Given the description of an element on the screen output the (x, y) to click on. 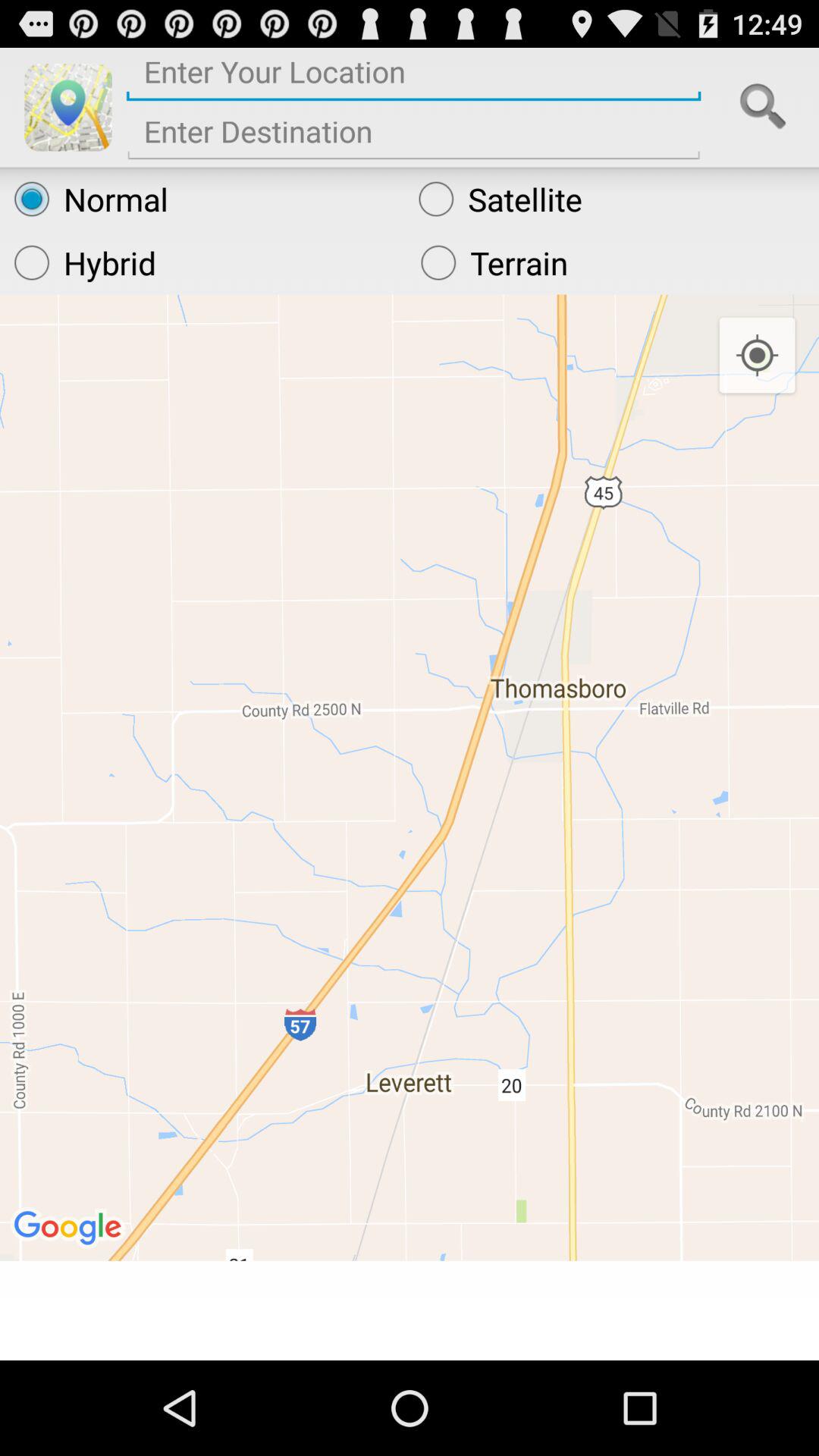
press the item next to hybrid radio button (612, 262)
